Given the description of an element on the screen output the (x, y) to click on. 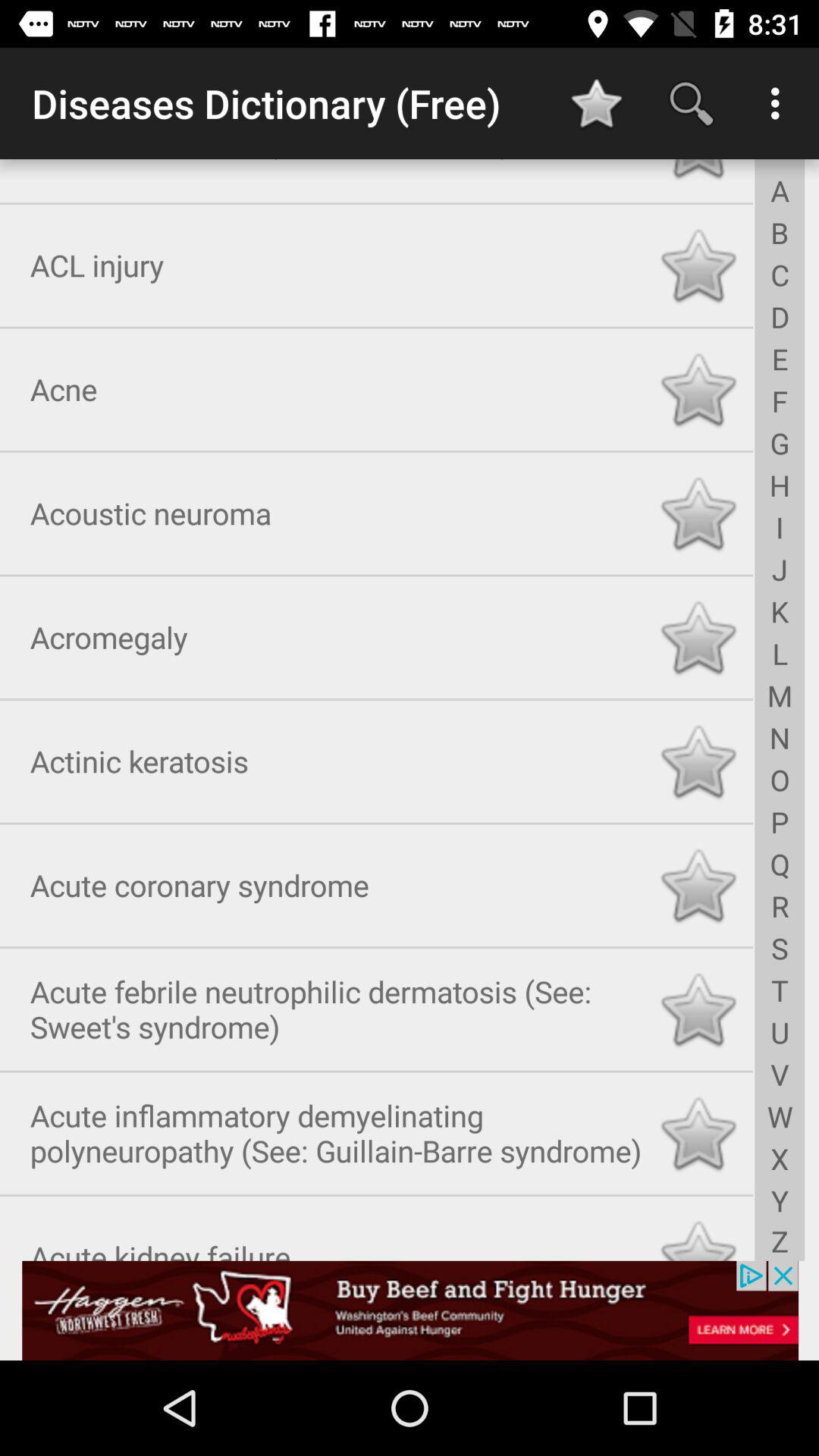
click to the rating (697, 171)
